Given the description of an element on the screen output the (x, y) to click on. 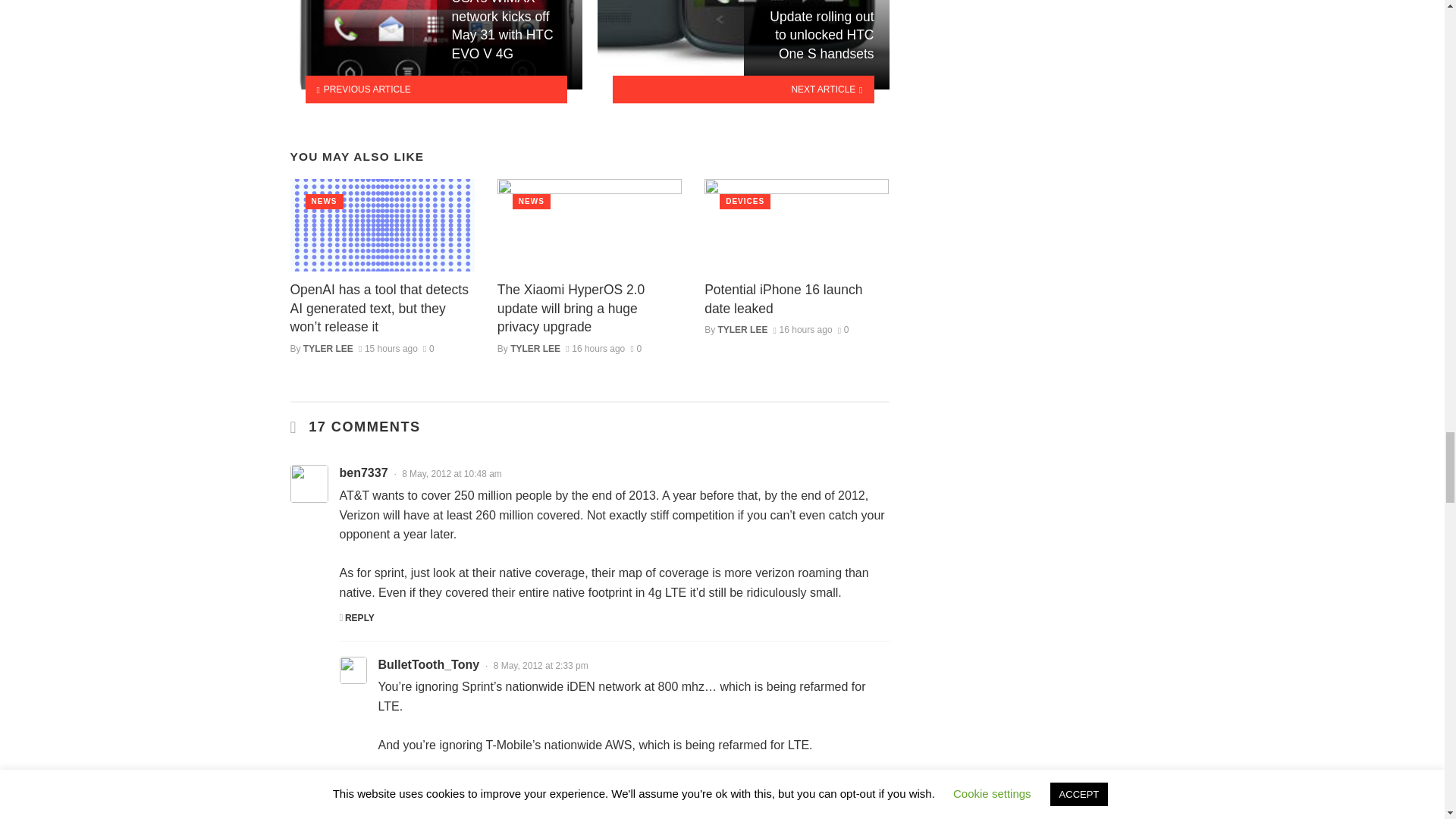
PREVIOUS ARTICLE (434, 90)
0 Comments (428, 348)
NEXT ARTICLE (742, 90)
August 5, 2024 at 5:21 am (387, 348)
